Given the description of an element on the screen output the (x, y) to click on. 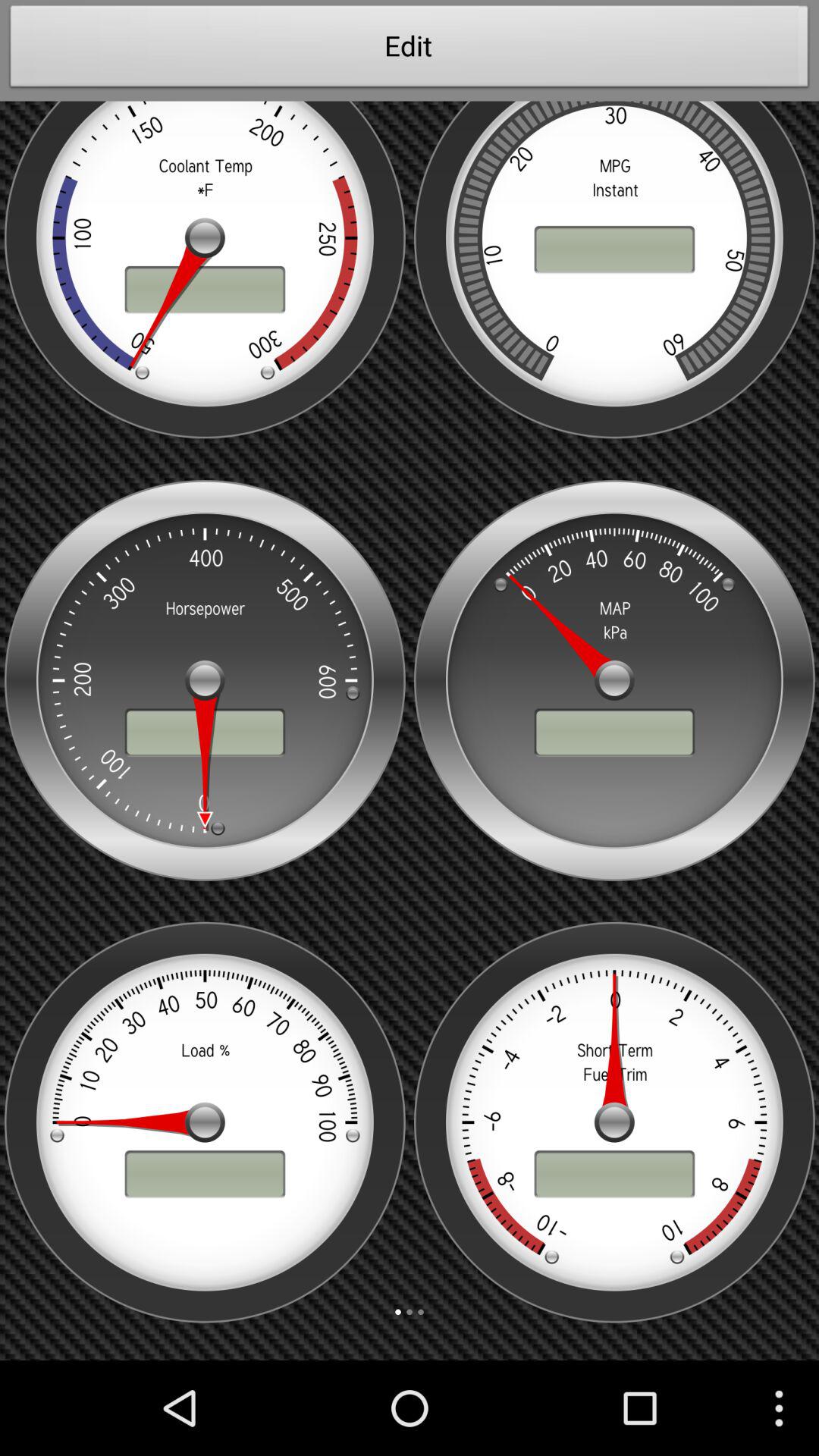
open icon at the top (409, 50)
